Given the description of an element on the screen output the (x, y) to click on. 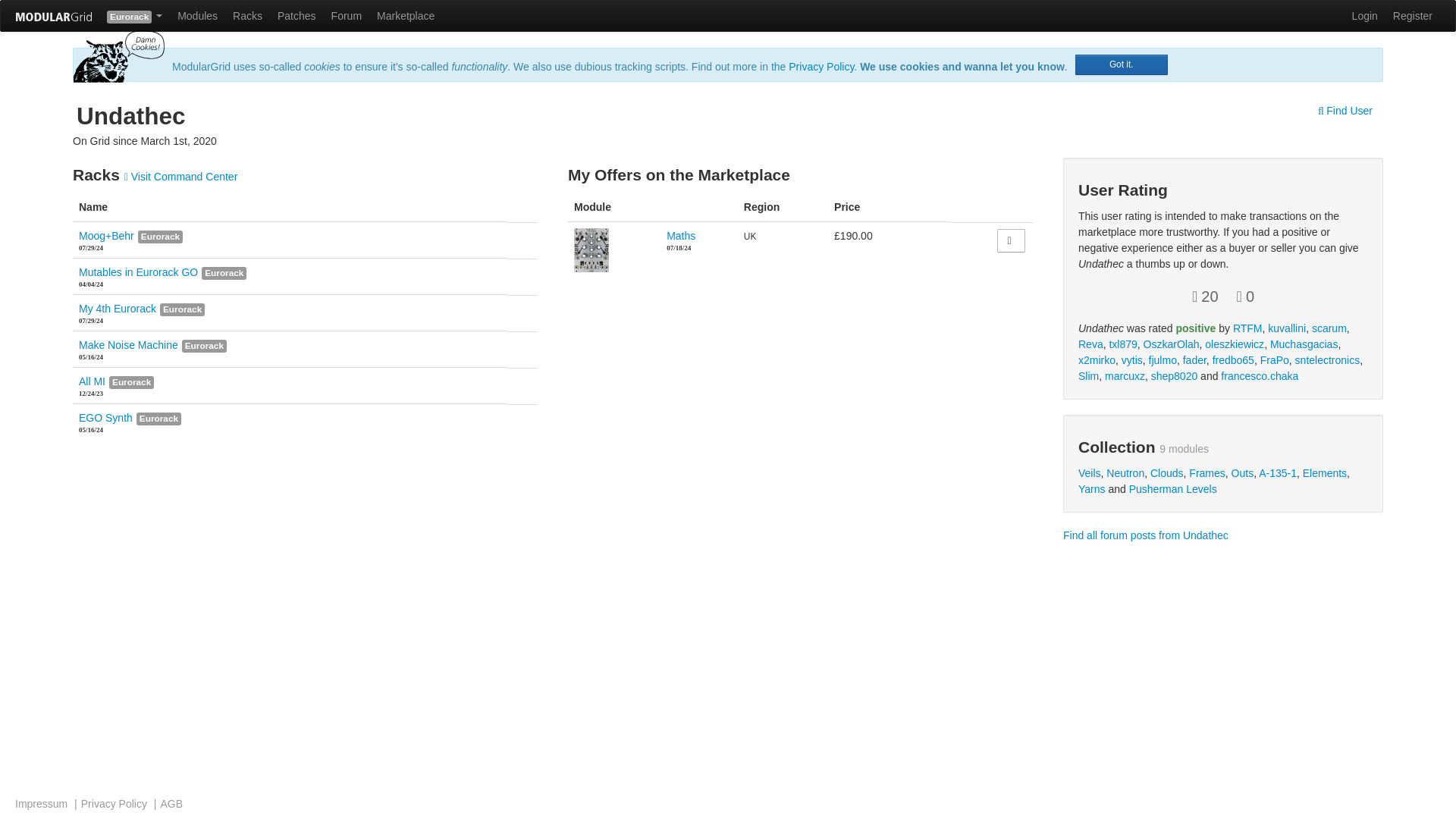
Racks (247, 15)
Maths (680, 235)
Visit Command Center (180, 176)
kuvallini (1287, 327)
View Offer (1011, 240)
View Rack (138, 272)
Login (1364, 15)
vote positive (1205, 296)
EGO Synth (105, 417)
Make Noise Machine (127, 345)
